Given the description of an element on the screen output the (x, y) to click on. 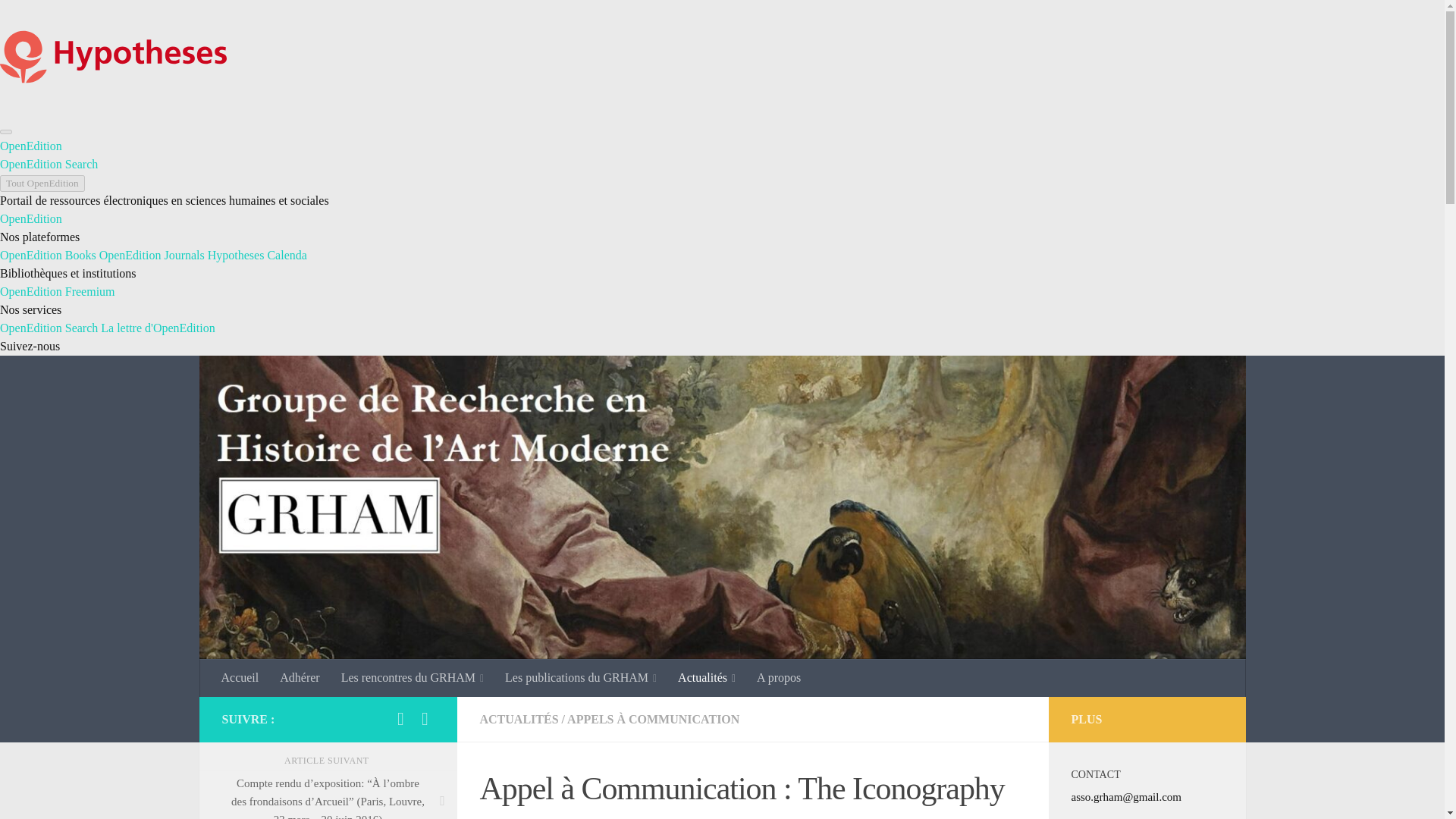
La lettre d'OpenEdition (157, 327)
Tout OpenEdition (42, 183)
OpenEdition Books (48, 254)
OpenEdition Freemium (57, 291)
Calenda (285, 254)
Hypotheses (236, 254)
OpenEdition Journals (152, 254)
Skip to content (59, 20)
OpenEdition Search (48, 327)
OpenEdition (31, 218)
OpenEdition Search (48, 164)
OpenEdition (31, 145)
